Given the description of an element on the screen output the (x, y) to click on. 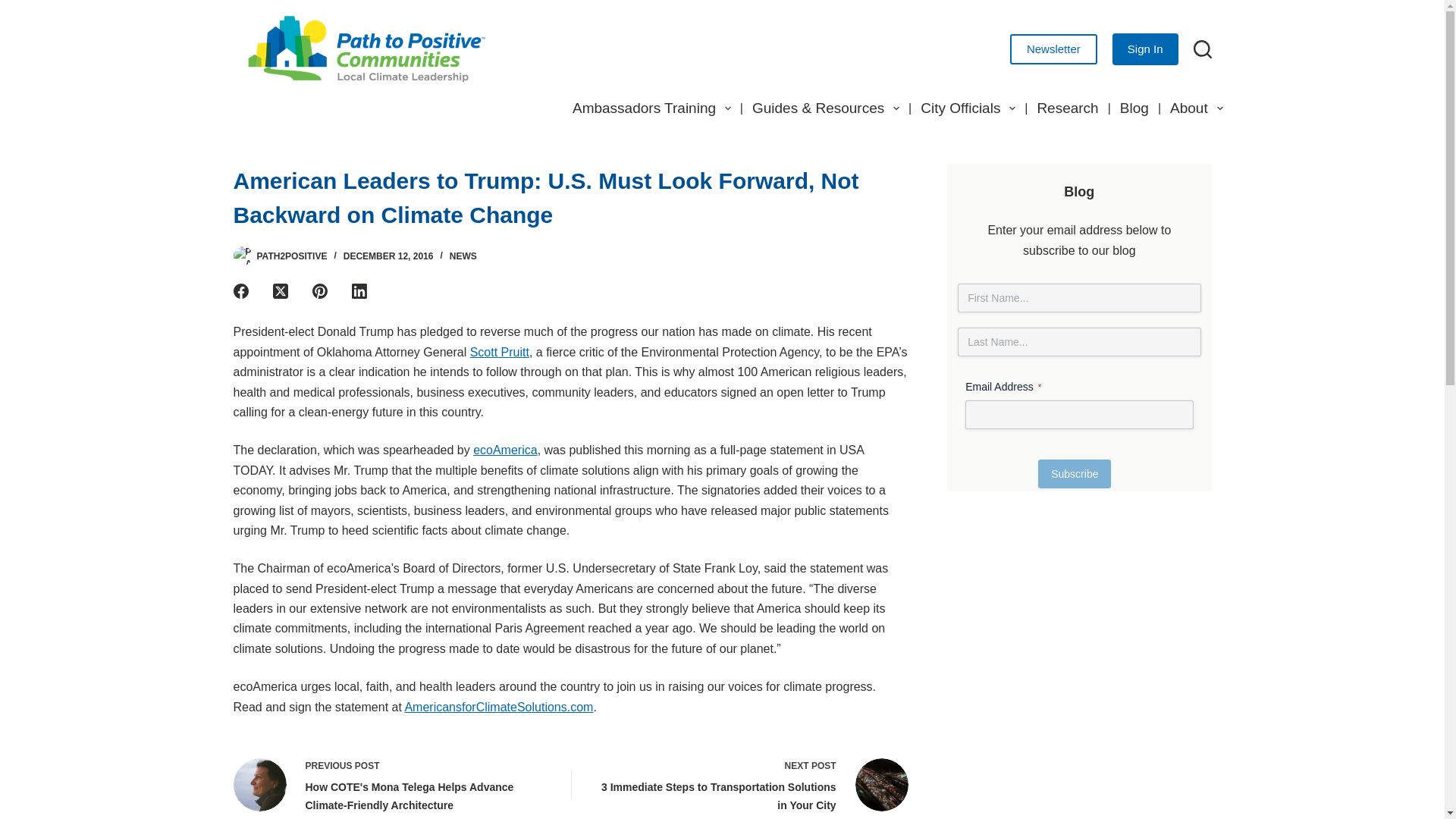
Newsletter (1053, 49)
Posts by path2positive (291, 255)
Skip to content (15, 7)
Ambassadors Training (651, 107)
Sign In (1144, 49)
Subscribe (1074, 473)
City Officials (968, 107)
